Given the description of an element on the screen output the (x, y) to click on. 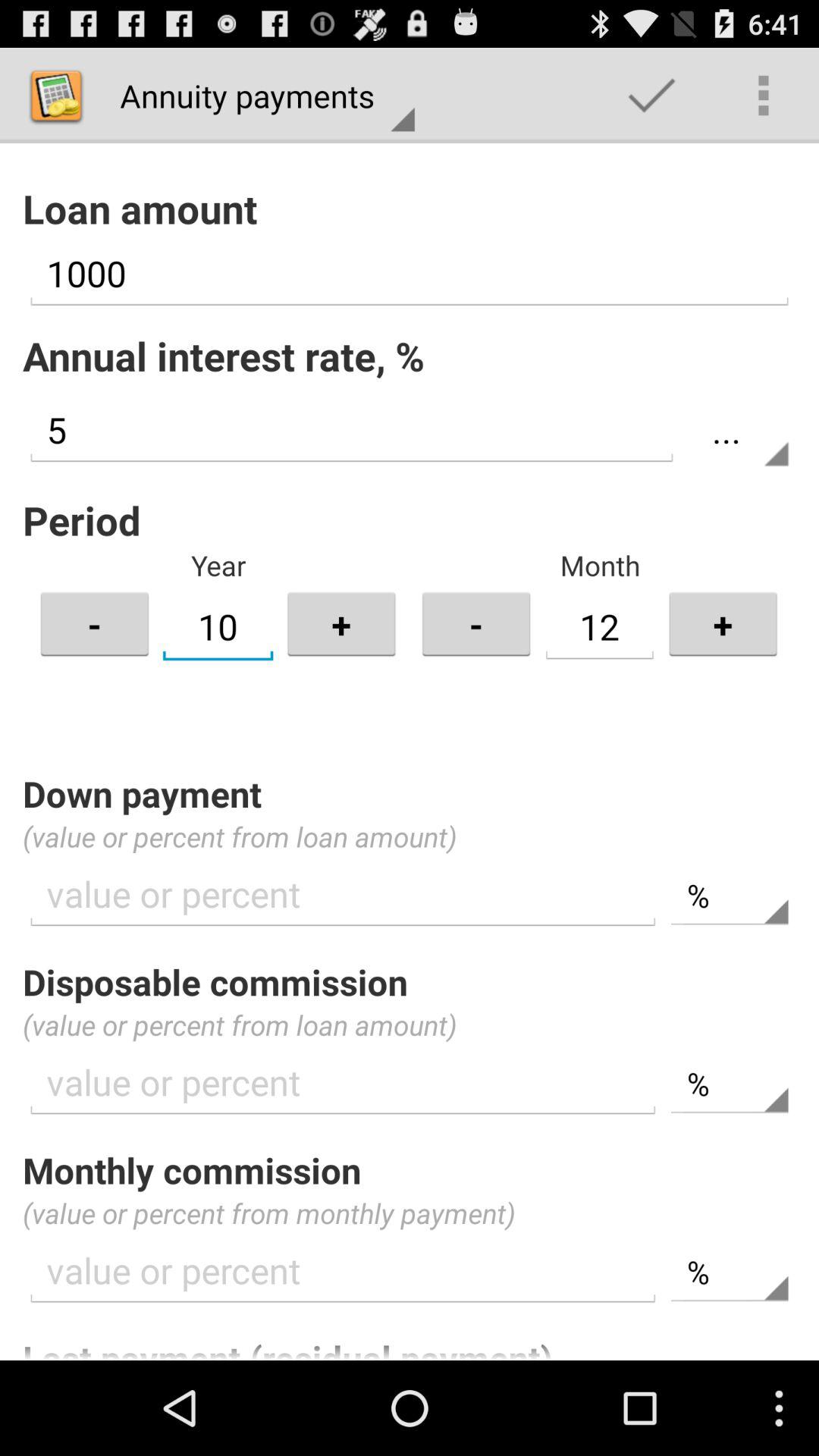
value or percent (342, 1270)
